Given the description of an element on the screen output the (x, y) to click on. 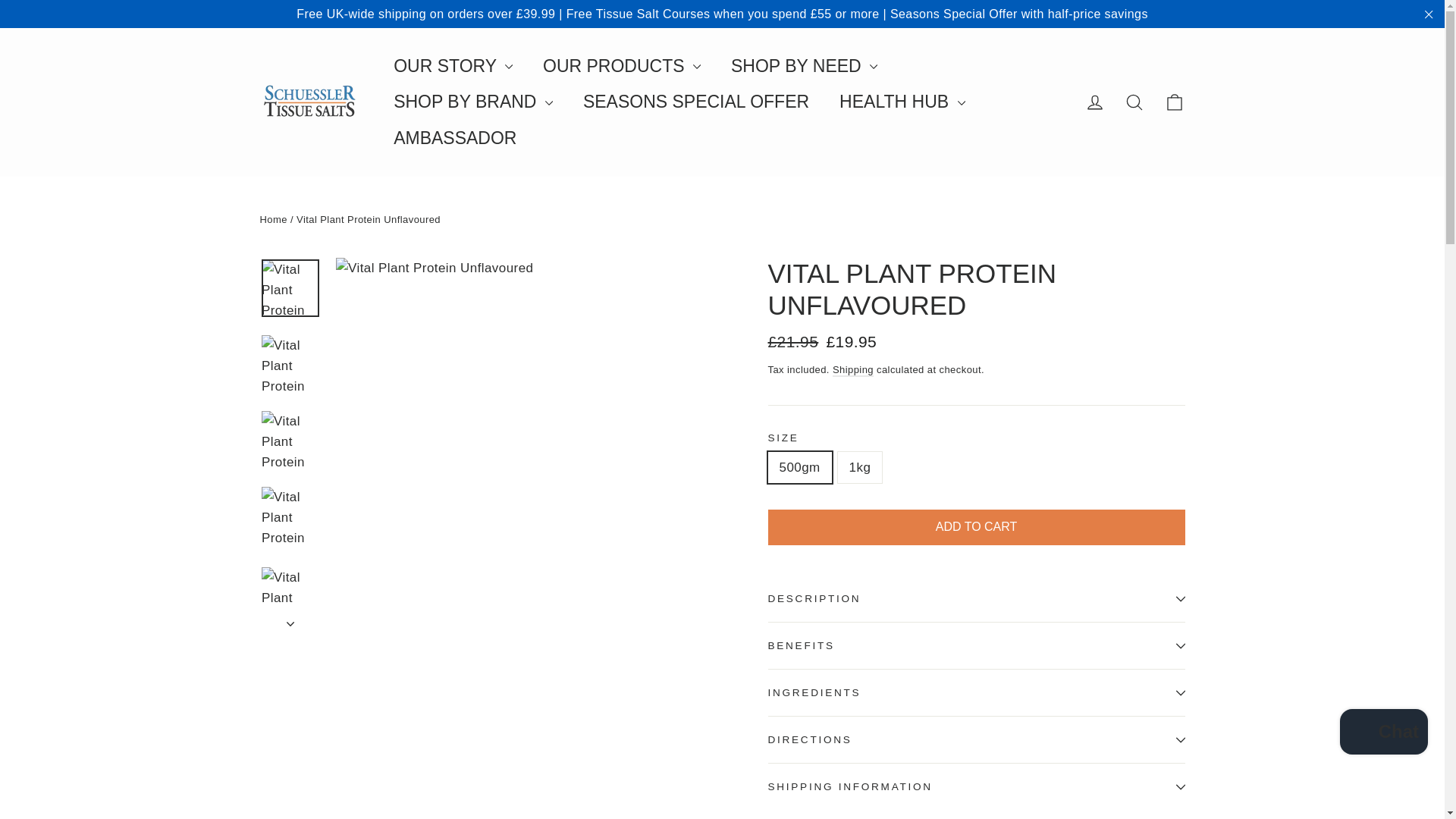
Shopify online store chat (1383, 733)
Back to the frontpage (272, 219)
